Given the description of an element on the screen output the (x, y) to click on. 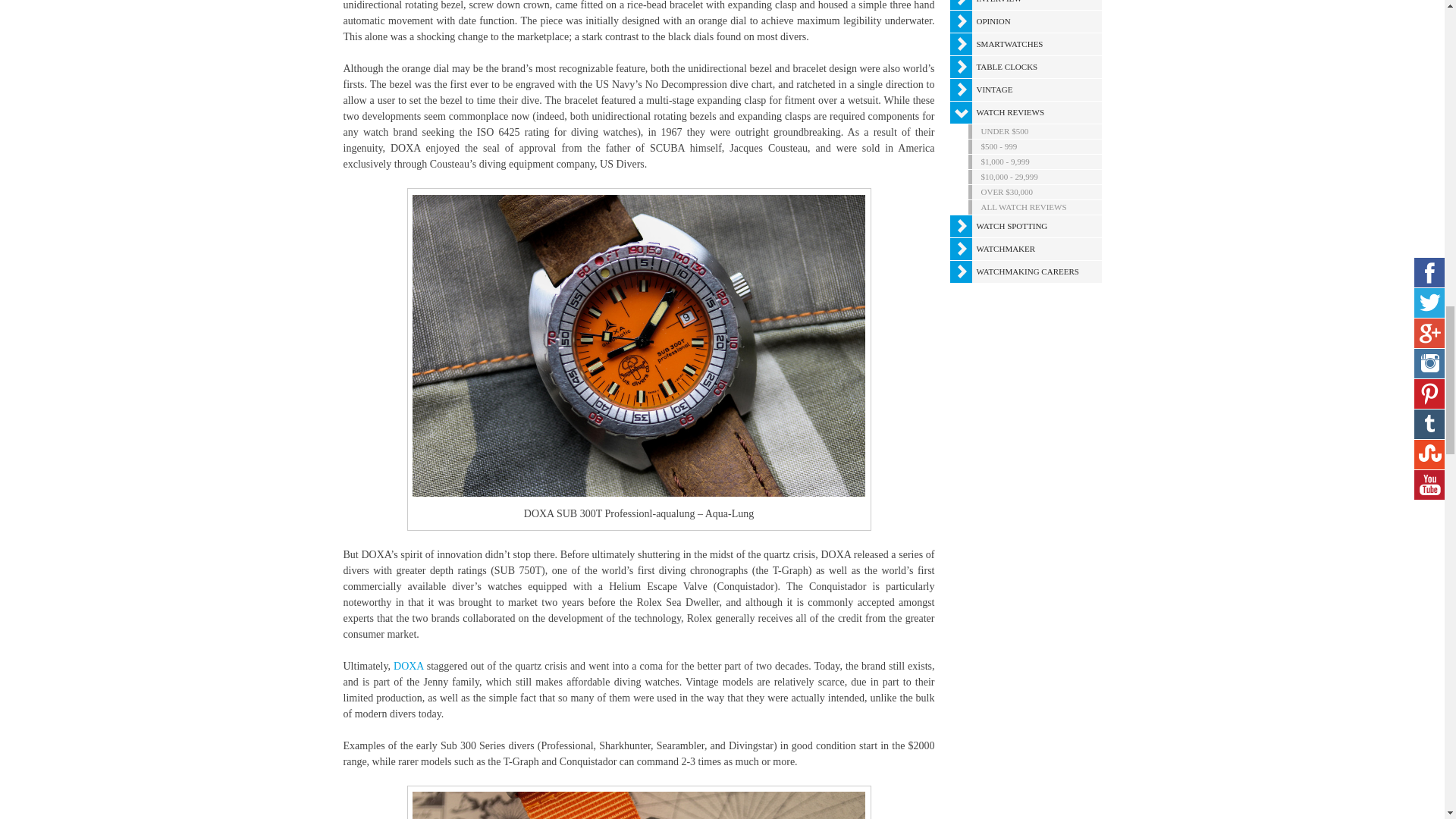
DOXA SUB 300T Sharkhunter (639, 805)
DOXA (408, 665)
